Given the description of an element on the screen output the (x, y) to click on. 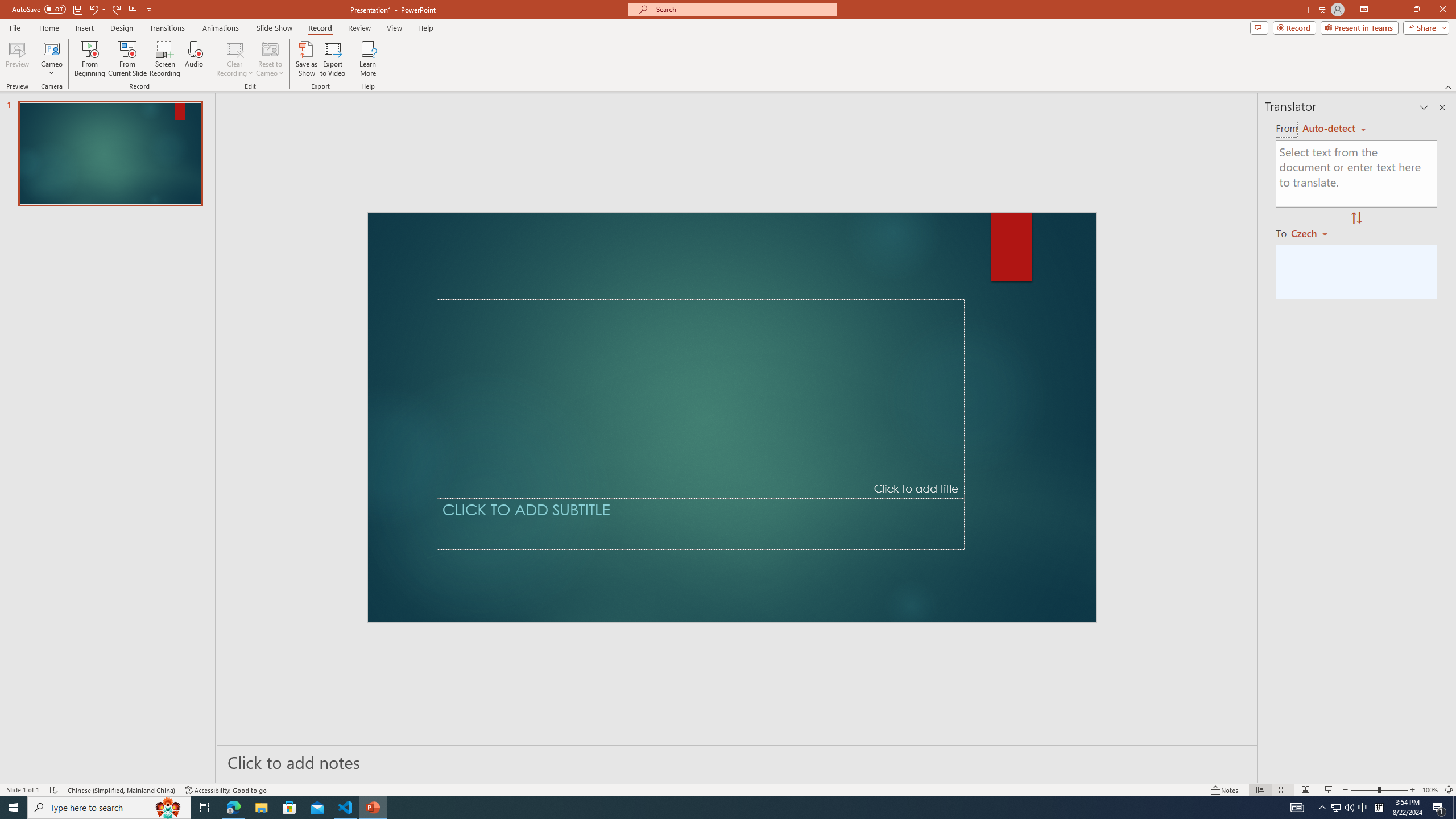
Subtitle TextBox (699, 523)
Slide Notes (737, 761)
Title TextBox (699, 398)
Audio (193, 58)
